Given the description of an element on the screen output the (x, y) to click on. 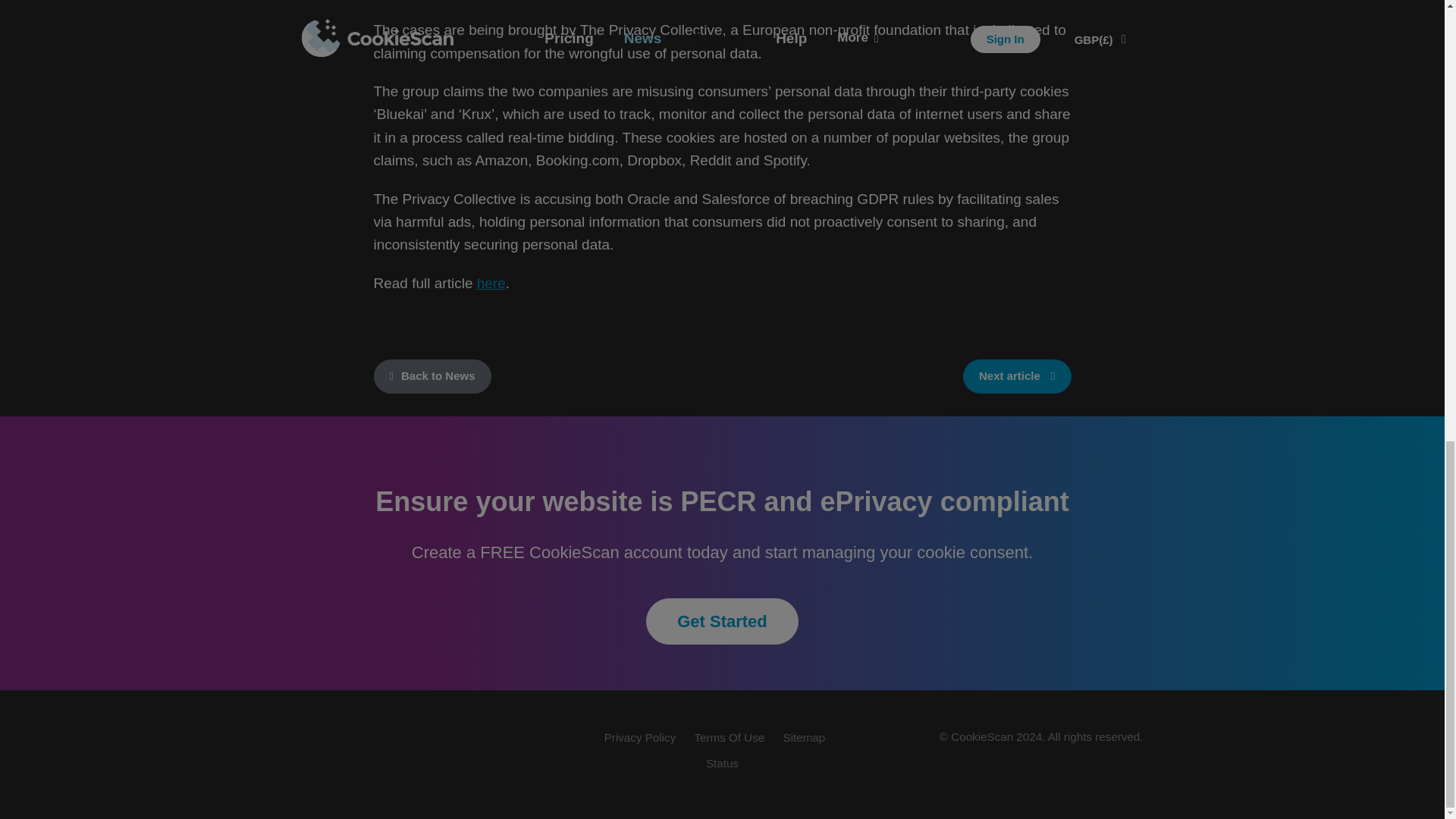
here (491, 283)
Privacy Policy (640, 737)
Status (722, 762)
Get Started (721, 621)
Back to the home page (376, 751)
Sitemap (804, 737)
Back to News (431, 376)
Terms Of Use (729, 737)
Next article (1016, 376)
